Given the description of an element on the screen output the (x, y) to click on. 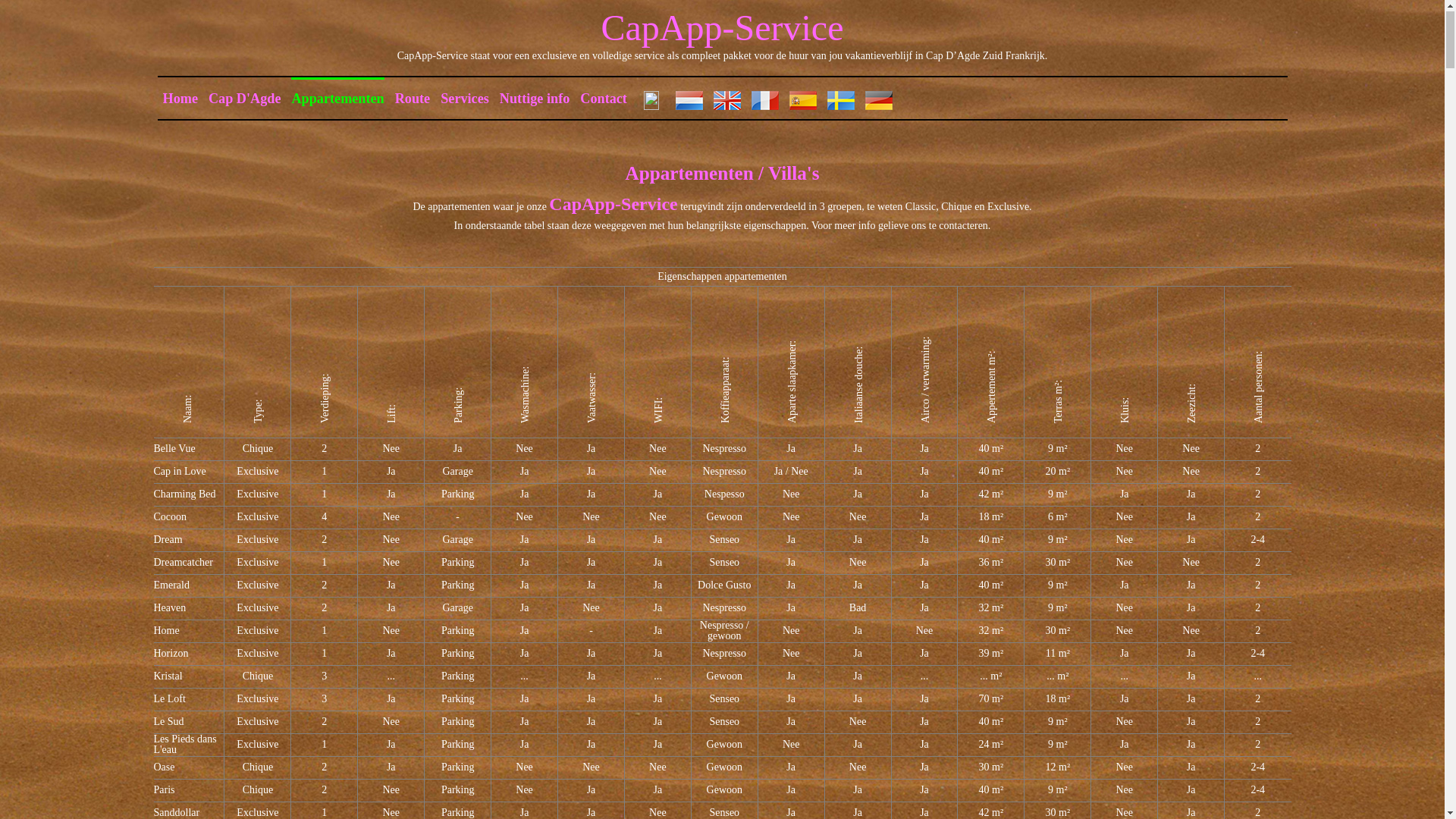
Home Element type: text (165, 631)
Contact Element type: text (603, 98)
Dreamcatcher Element type: text (183, 562)
Cap D'Agde Element type: text (244, 98)
Kristal Element type: text (167, 676)
Route Element type: text (412, 98)
Belle Vue Element type: text (173, 449)
Les Pieds dans L'eau Element type: text (184, 745)
Cap in Love Element type: text (179, 471)
Emerald Element type: text (170, 585)
Le Sud Element type: text (168, 722)
Services Element type: text (464, 98)
Dream Element type: text (167, 540)
Oase Element type: text (163, 767)
Cocoon Element type: text (169, 517)
Charming Bed Element type: text (184, 494)
Heaven Element type: text (169, 608)
Horizon Element type: text (170, 653)
Home Element type: text (179, 98)
Nuttige info Element type: text (534, 98)
Le Loft Element type: text (169, 699)
Paris Element type: text (163, 790)
Appartementen Element type: text (337, 98)
